Given the description of an element on the screen output the (x, y) to click on. 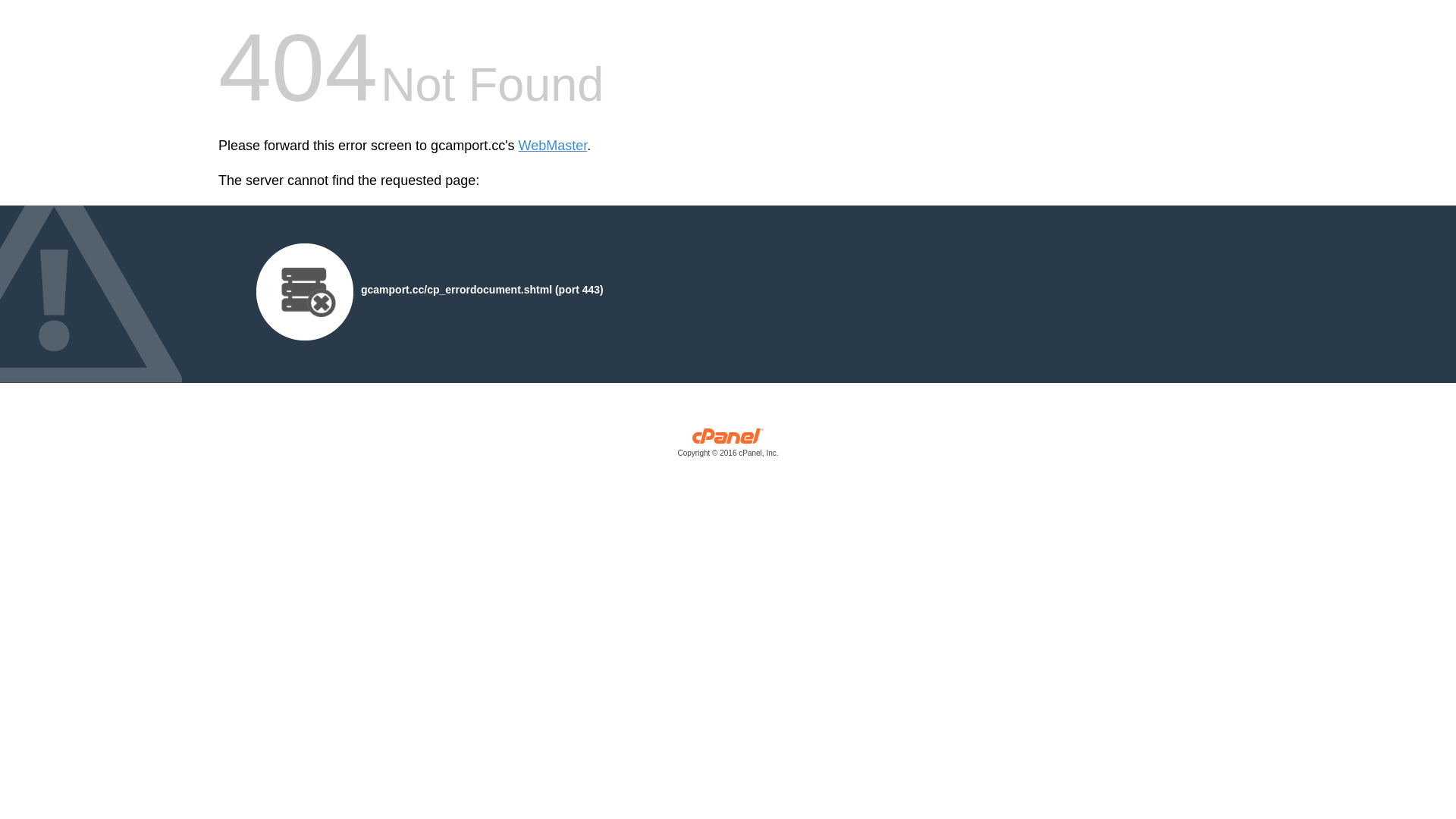
WebMaster (553, 145)
cPanel, Inc. (727, 446)
